Given the description of an element on the screen output the (x, y) to click on. 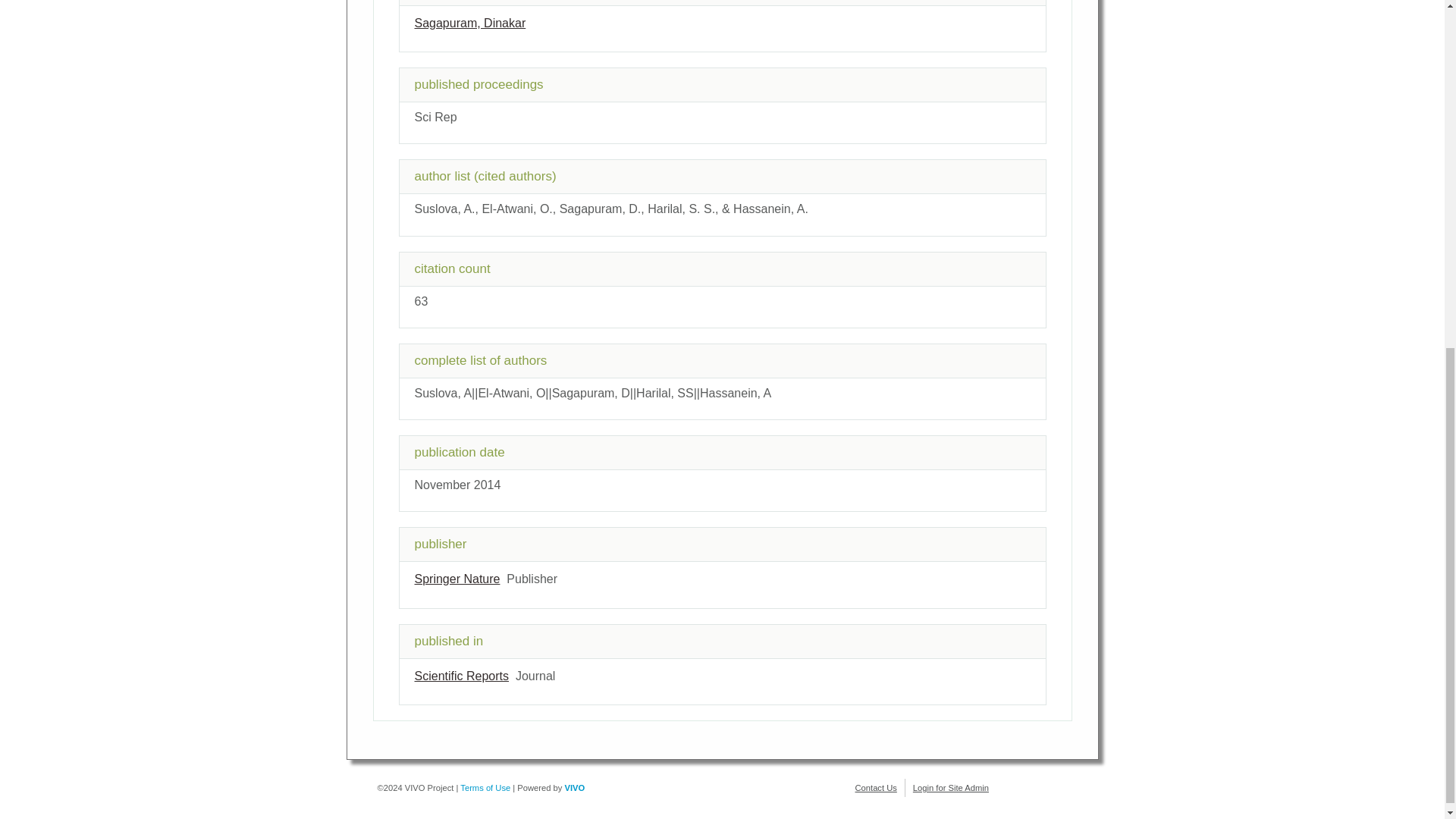
Login for Site Admin (950, 787)
author name (469, 22)
Scientific Reports (460, 675)
Contact Us (876, 787)
name (456, 578)
VIVO (574, 787)
name (460, 675)
Terms of Use (485, 787)
Springer Nature (456, 578)
Sagapuram, Dinakar (469, 22)
